Given the description of an element on the screen output the (x, y) to click on. 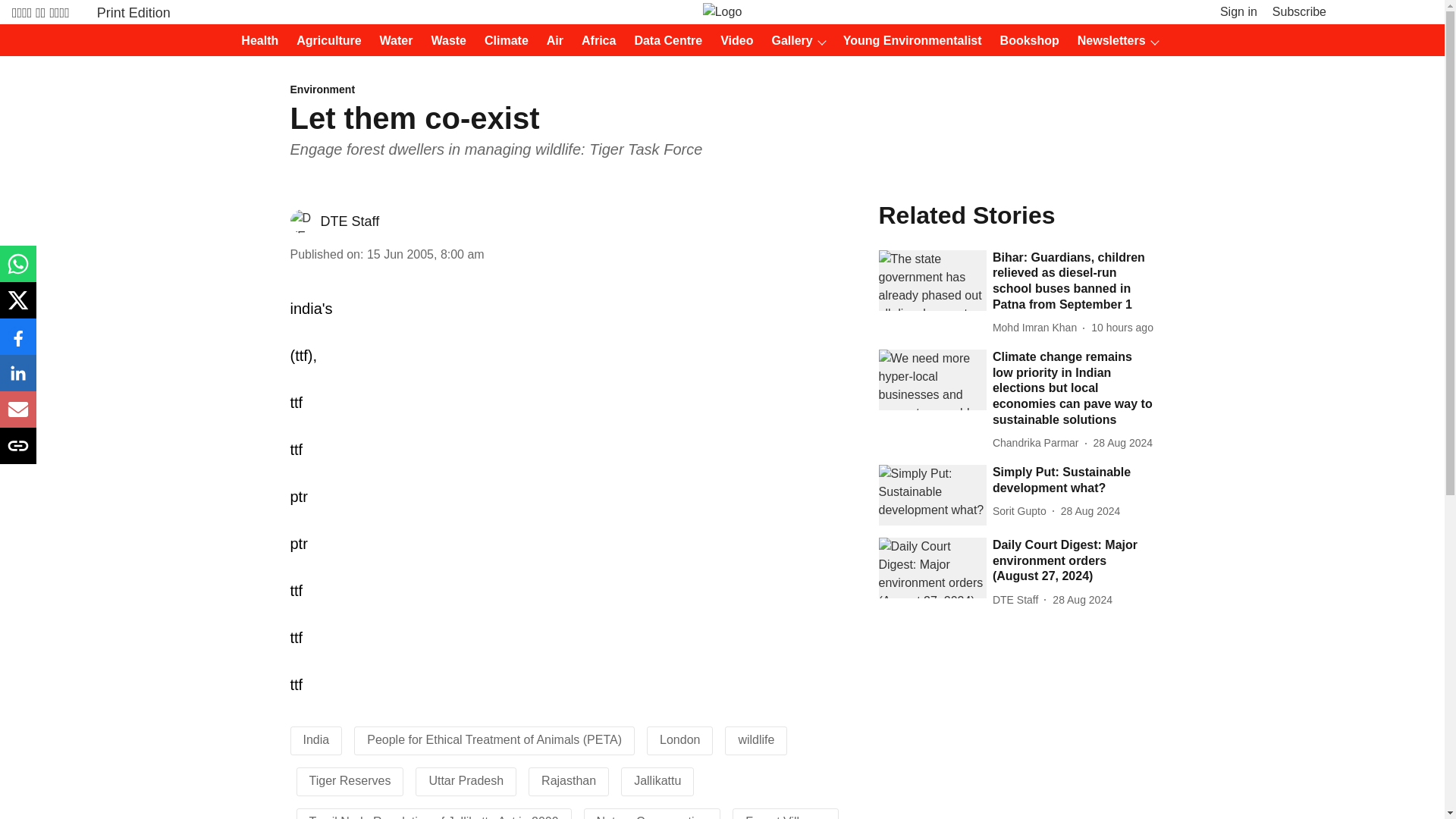
2024-08-28 12:14 (1123, 442)
Africa (593, 40)
Waste (443, 40)
2024-08-28 09:24 (1082, 600)
Health (254, 40)
Print Edition (133, 12)
Agriculture (323, 40)
India (316, 739)
Water (392, 40)
2024-08-29 12:02 (1121, 327)
